Given the description of an element on the screen output the (x, y) to click on. 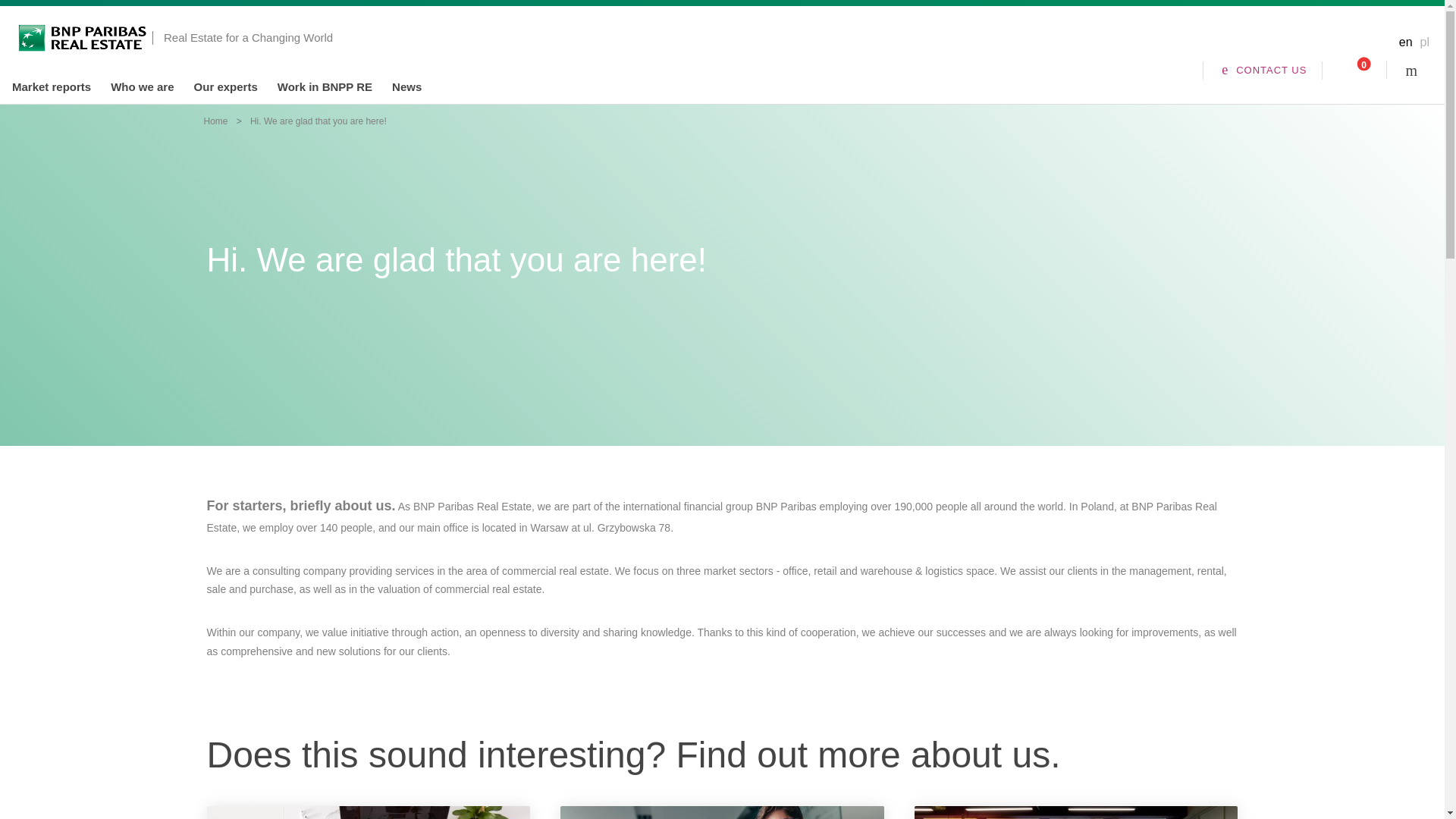
Home (215, 121)
Who we are (141, 87)
Work in BNPP RE (325, 87)
CONTACT US (1263, 69)
SEARCHING (1418, 70)
0 (1353, 70)
en (1405, 42)
Our experts (225, 87)
News (406, 87)
Market reports (50, 87)
